Given the description of an element on the screen output the (x, y) to click on. 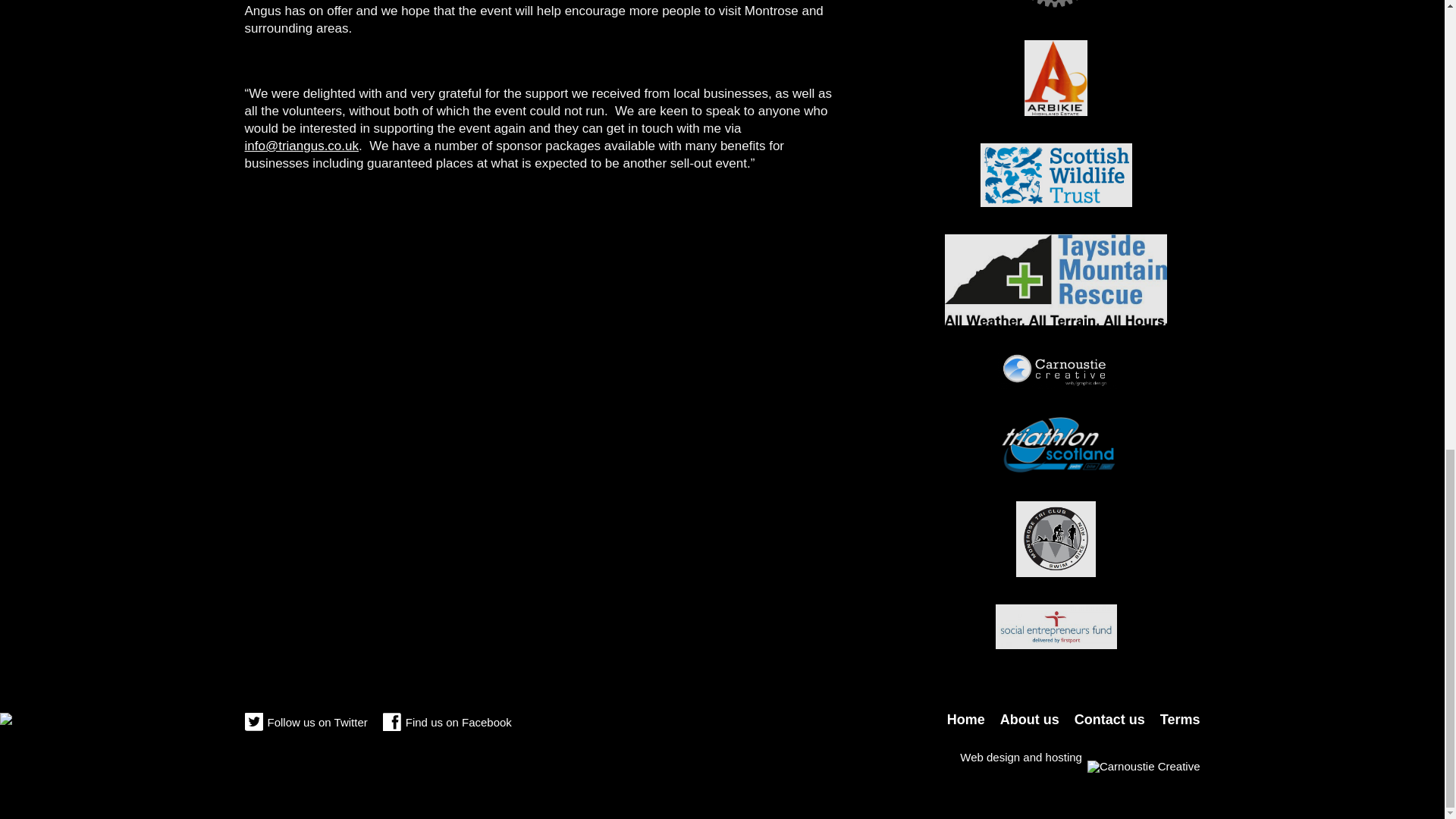
Terms (1179, 719)
Follow us on Twitter (305, 723)
About us (1029, 719)
Contact us (1109, 719)
Find us on Facebook (447, 723)
Web design and hosting (1079, 757)
Home (966, 719)
